Given the description of an element on the screen output the (x, y) to click on. 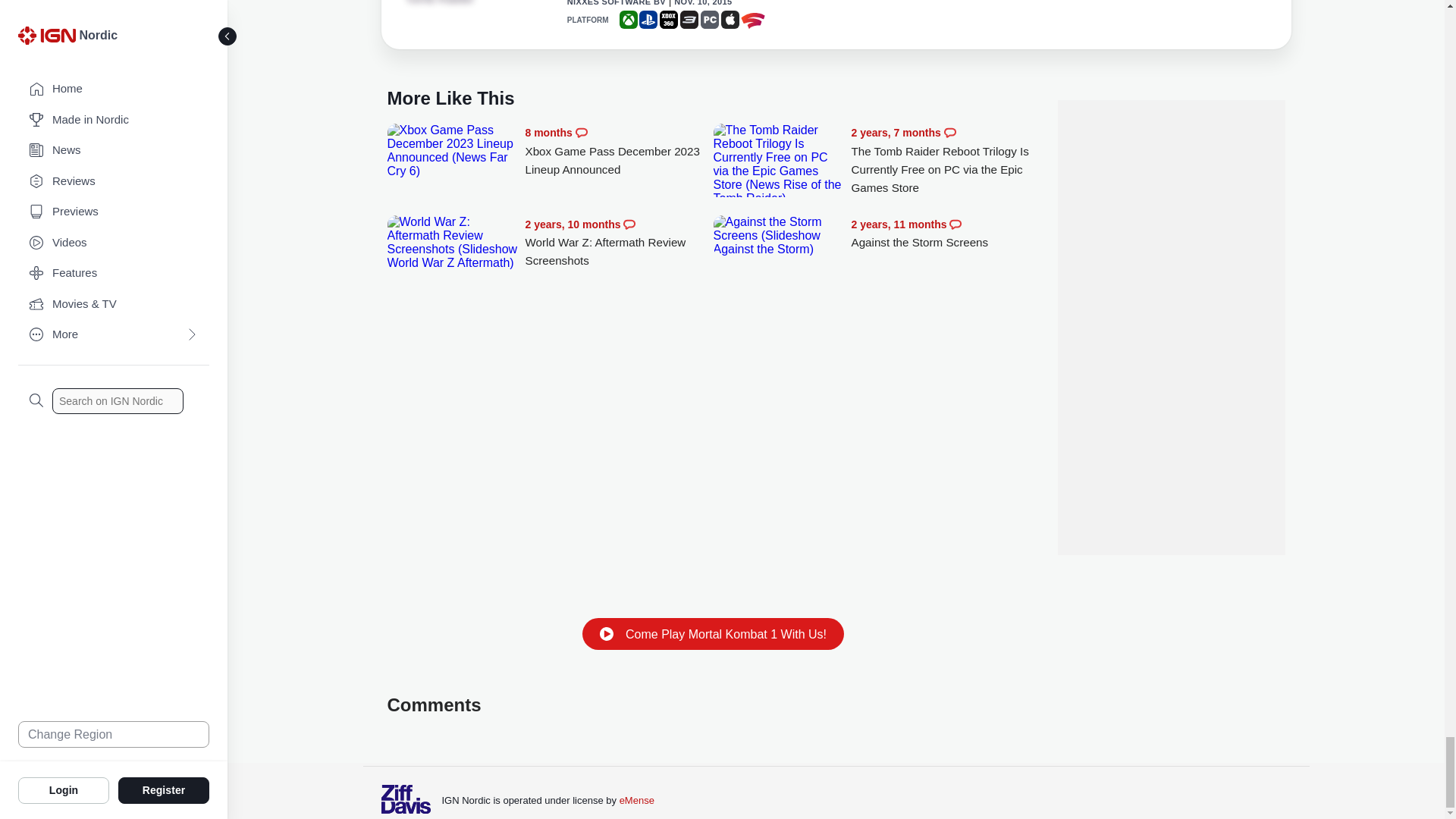
Rise of the Tomb Raider (448, 2)
World War Z: Aftermath Review Screenshots (618, 243)
World War Z: Aftermath Review Screenshots (451, 242)
PS3 (688, 19)
Against the Storm Screens (944, 233)
PS4 (648, 19)
PC (709, 19)
Xbox Game Pass December 2023 Lineup Announced (618, 151)
